Given the description of an element on the screen output the (x, y) to click on. 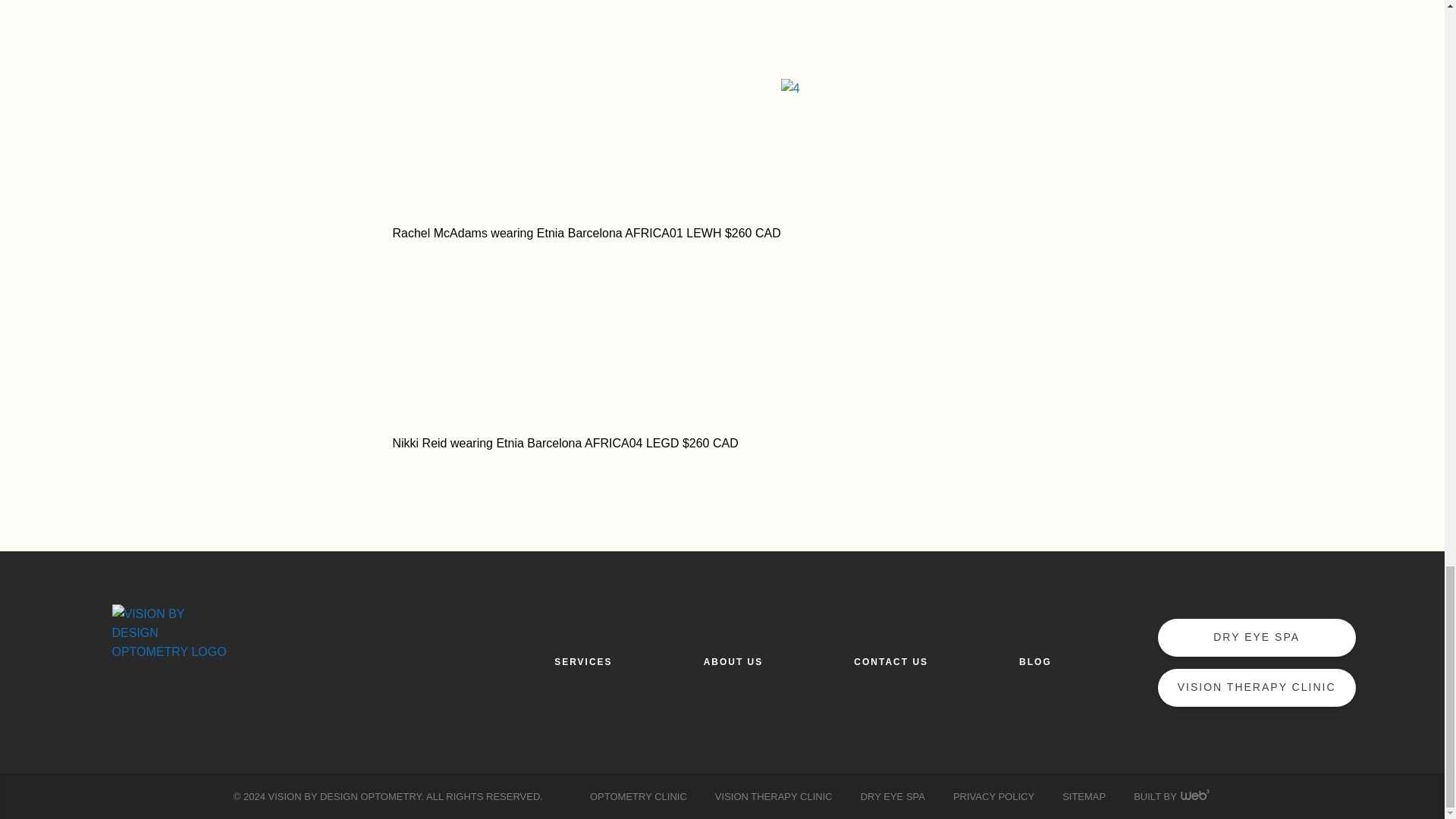
VISION THERAPY CLINIC (773, 797)
OPTOMETRY CLINIC (638, 797)
ABOUT US (732, 661)
BLOG (1035, 661)
VISION THERAPY CLINIC (1256, 687)
DRY EYE SPA (1256, 637)
SERVICES (582, 661)
CONTACT US (890, 661)
